Given the description of an element on the screen output the (x, y) to click on. 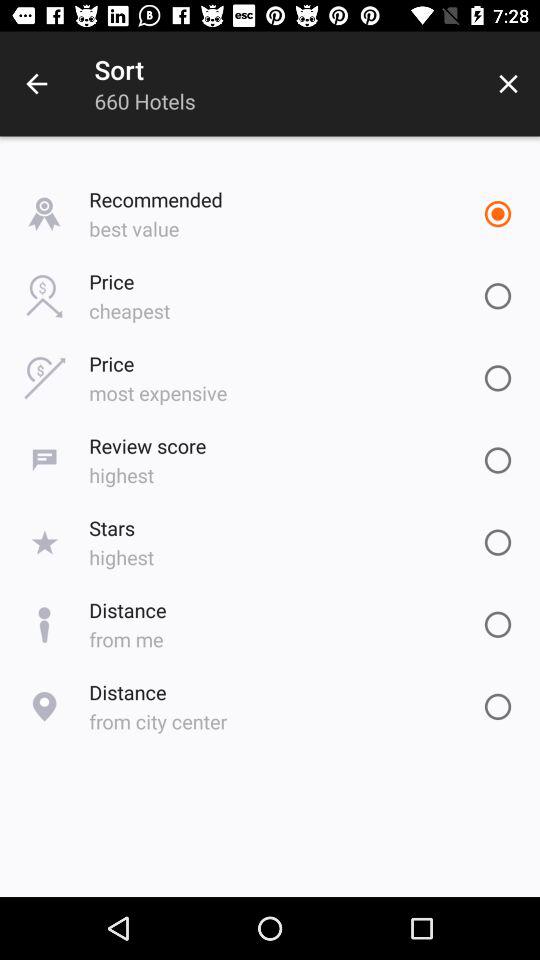
choose the icon next to 660 hotels (508, 83)
